Given the description of an element on the screen output the (x, y) to click on. 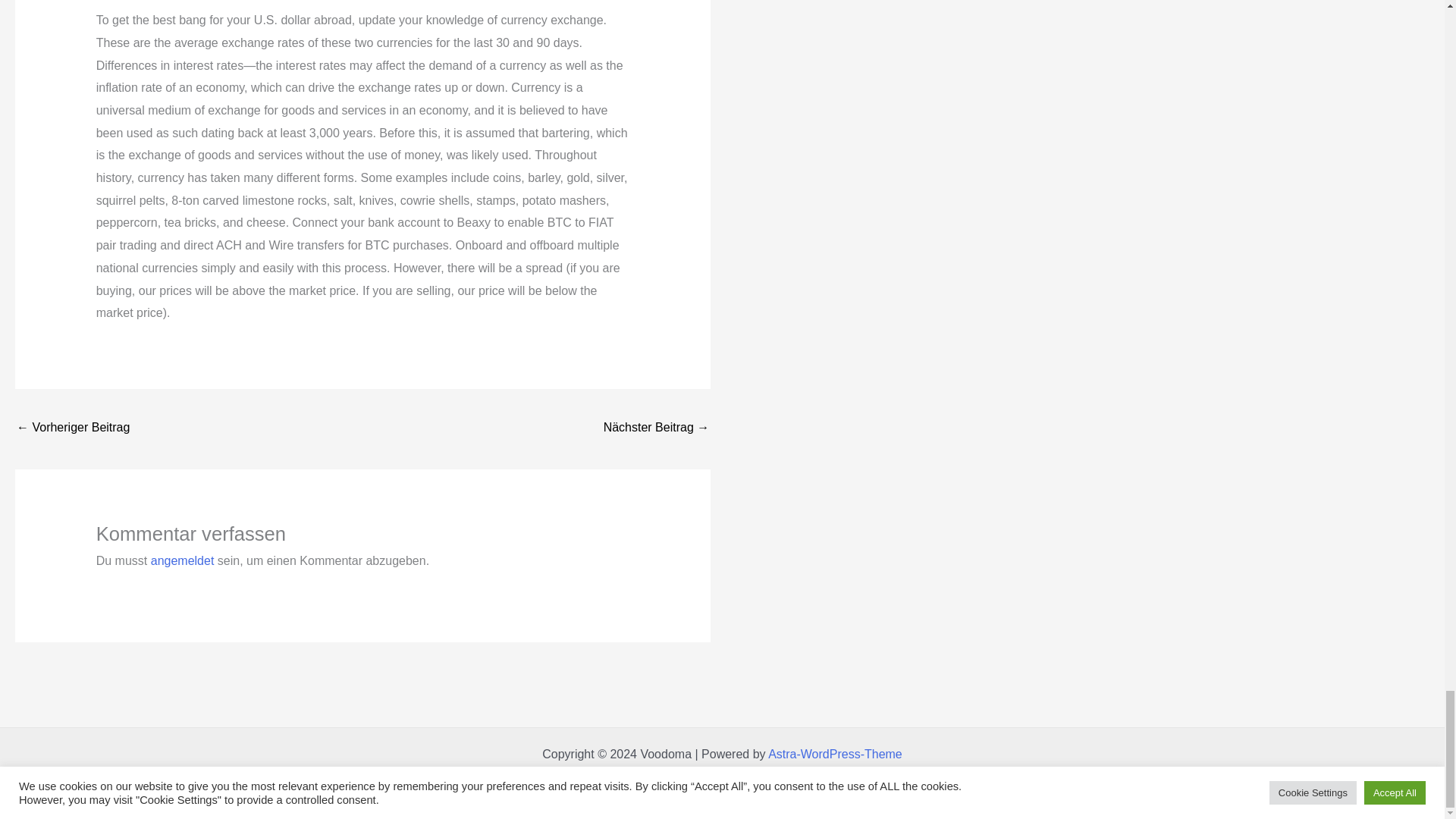
angemeldet (182, 560)
